Given the description of an element on the screen output the (x, y) to click on. 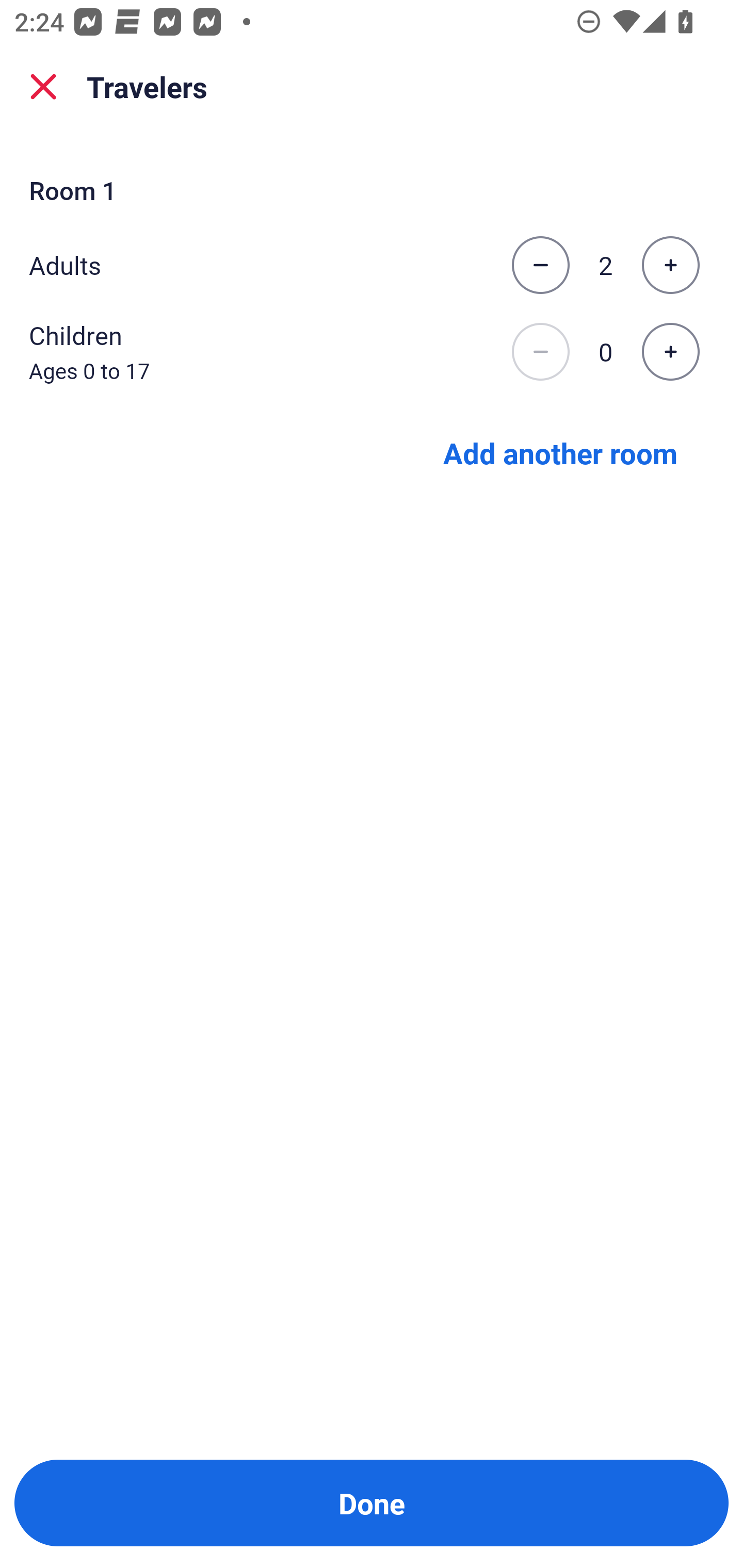
close (43, 86)
Decrease the number of adults (540, 264)
Increase the number of adults (670, 264)
Decrease the number of children (540, 351)
Increase the number of children (670, 351)
Add another room (560, 452)
Done (371, 1502)
